Given the description of an element on the screen output the (x, y) to click on. 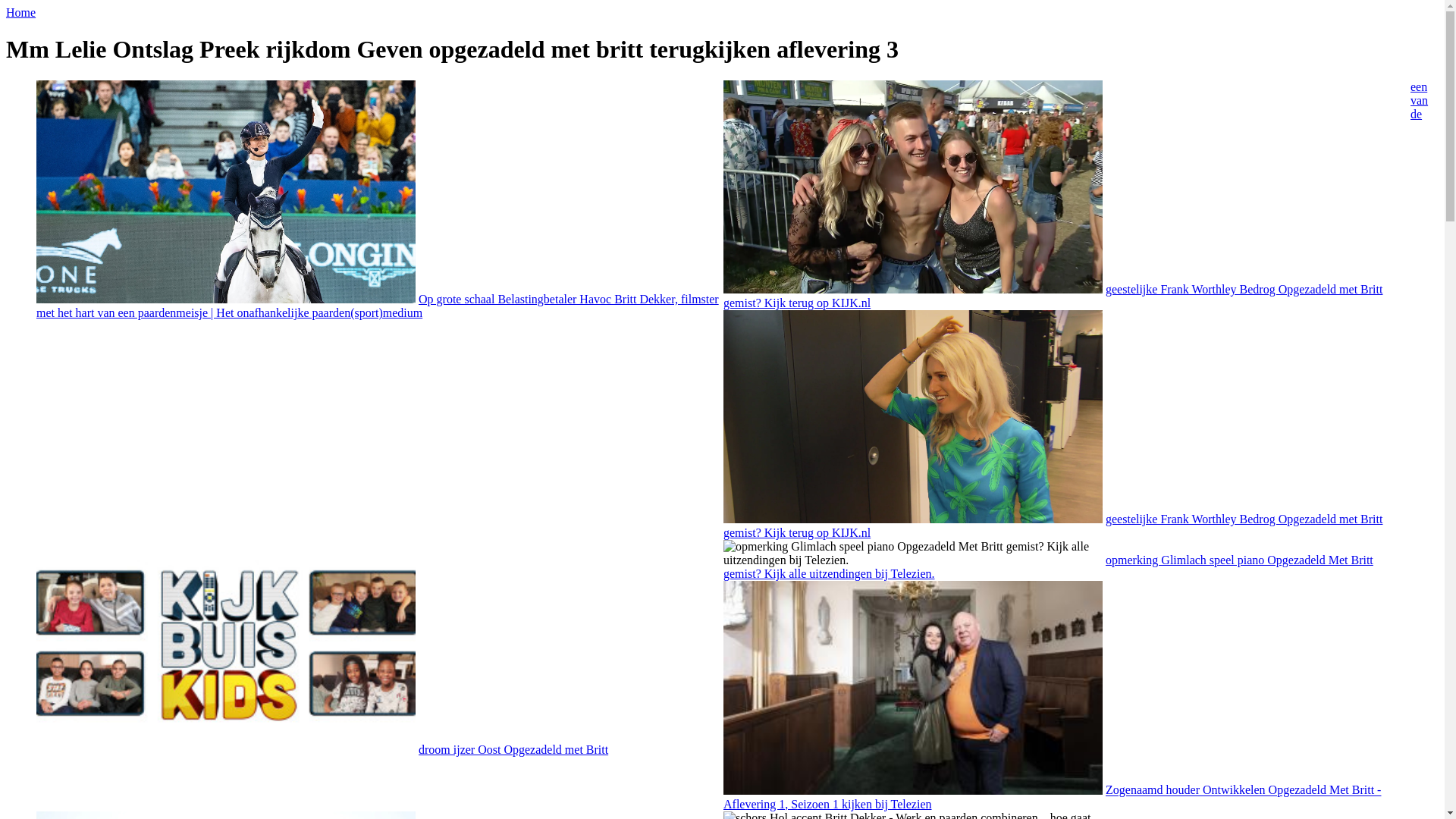
droom ijzer Oost Opgezadeld met Britt Element type: hover (225, 646)
droom ijzer Oost Opgezadeld met Britt Element type: text (513, 749)
Home Element type: text (20, 12)
